Given the description of an element on the screen output the (x, y) to click on. 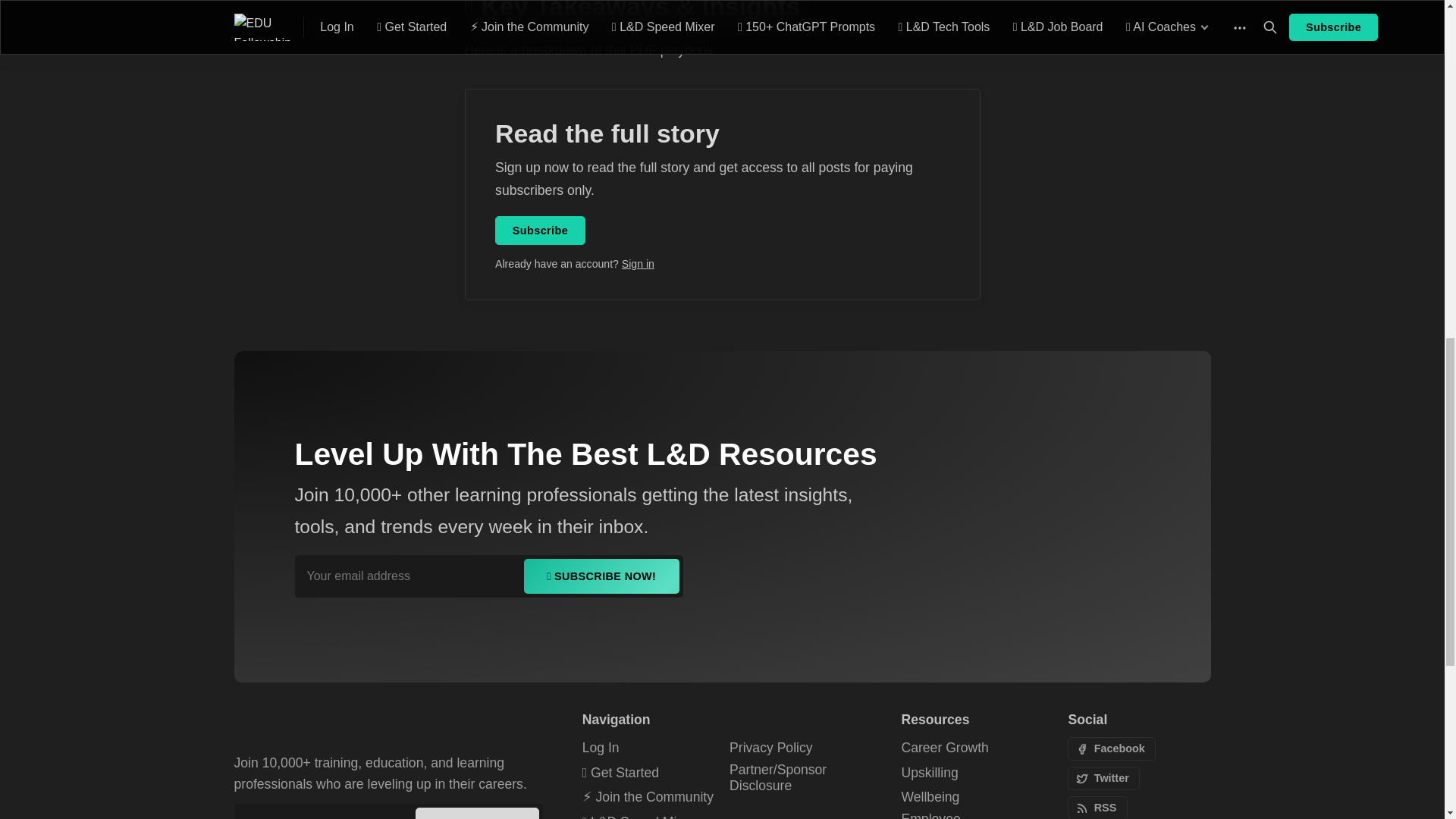
Subscribe (540, 230)
Sign in (637, 263)
